Given the description of an element on the screen output the (x, y) to click on. 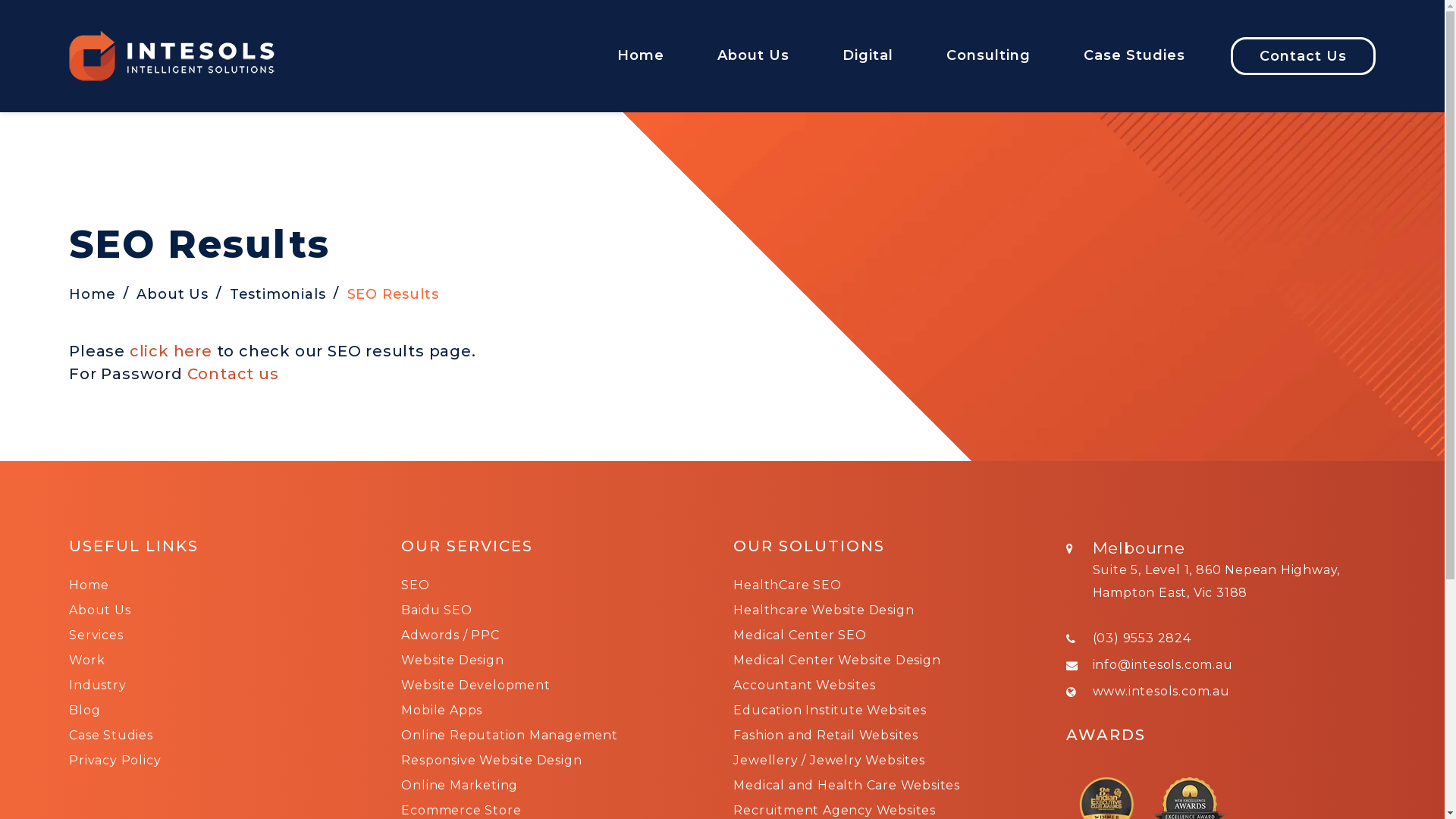
Online Marketing Element type: text (459, 785)
Fashion and Retail Websites Element type: text (825, 735)
Contact us Element type: text (233, 373)
Website Design Element type: text (452, 659)
About Us Element type: text (99, 609)
Consulting Element type: text (988, 74)
Responsive Website Design Element type: text (491, 760)
HealthCare SEO Element type: text (786, 584)
www.intesols.com.au Element type: text (1161, 691)
Digital Element type: text (867, 74)
Blog Element type: text (84, 709)
Case Studies Element type: text (1134, 74)
Medical Center Website Design Element type: text (836, 659)
Services Element type: text (95, 634)
Home Element type: text (88, 584)
Recruitment Agency Websites Element type: text (834, 810)
Accountant Websites Element type: text (804, 684)
click here Element type: text (170, 351)
(03) 9553 2824 Element type: text (1141, 637)
Contact Us Element type: text (1302, 56)
Medical and Health Care Websites Element type: text (846, 785)
SEO Results Element type: text (393, 293)
Testimonials Element type: text (277, 293)
About Us Element type: text (752, 74)
Baidu SEO Element type: text (436, 609)
Mobile Apps Element type: text (441, 709)
Jewellery / Jewelry Websites Element type: text (828, 760)
Work Element type: text (86, 659)
Healthcare Website Design Element type: text (823, 609)
Case Studies Element type: text (111, 735)
Home Element type: text (640, 74)
Home Element type: text (92, 293)
Industry Element type: text (97, 684)
Education Institute Websites Element type: text (829, 709)
Adwords / PPC Element type: text (449, 634)
Medical Center SEO Element type: text (799, 634)
Privacy Policy Element type: text (114, 760)
SEO Element type: text (415, 584)
Online Reputation Management Element type: text (509, 735)
info@intesols.com.au Element type: text (1162, 664)
Website Development Element type: text (475, 684)
Ecommerce Store Element type: text (460, 810)
About Us Element type: text (171, 293)
